Given the description of an element on the screen output the (x, y) to click on. 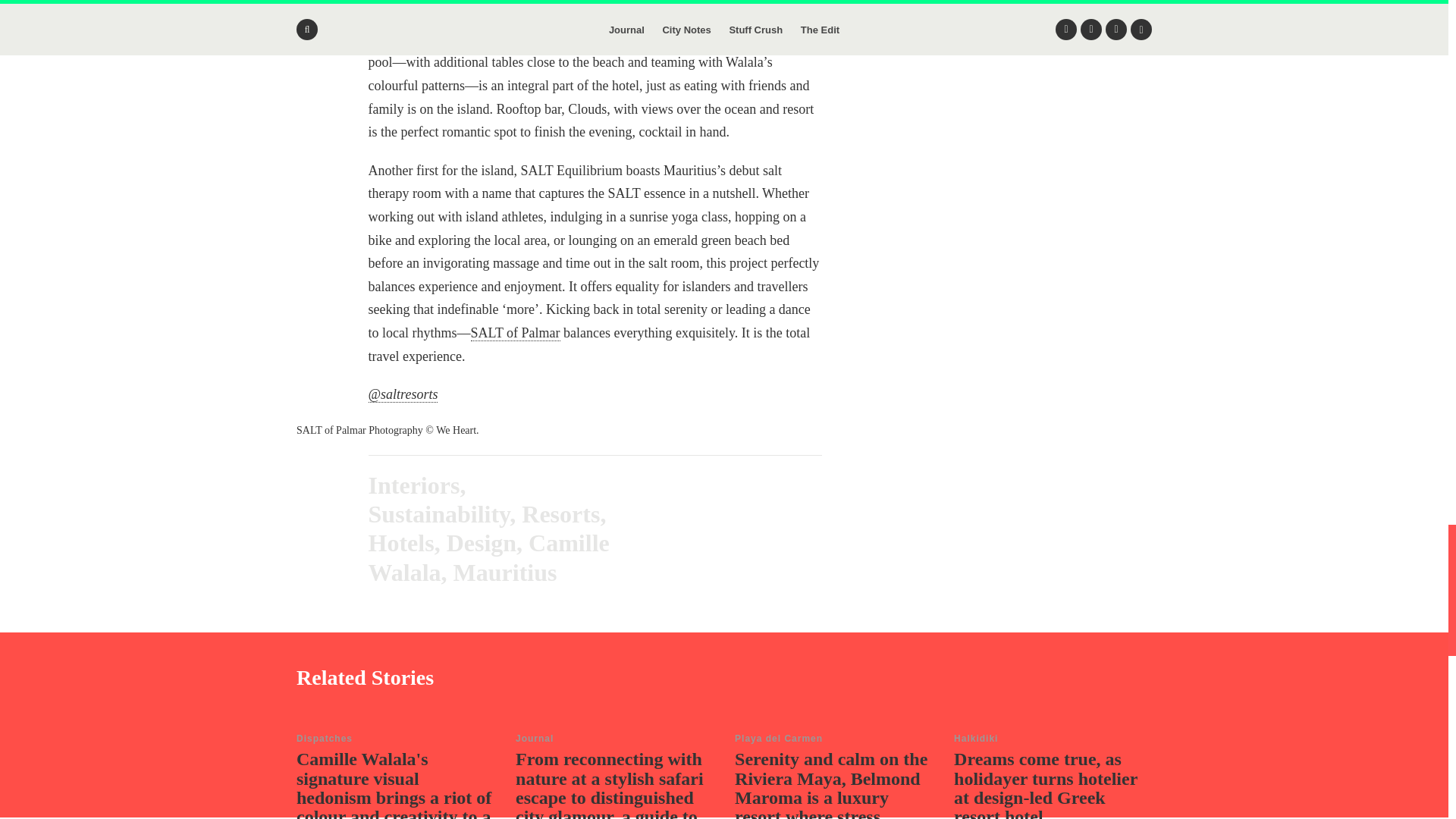
Sustainability (439, 513)
Mauritius (504, 572)
Camille Walala (489, 557)
Interiors (414, 484)
Hotels (400, 542)
Design (481, 542)
SALT of Palmar (515, 333)
Resorts (560, 513)
